Given the description of an element on the screen output the (x, y) to click on. 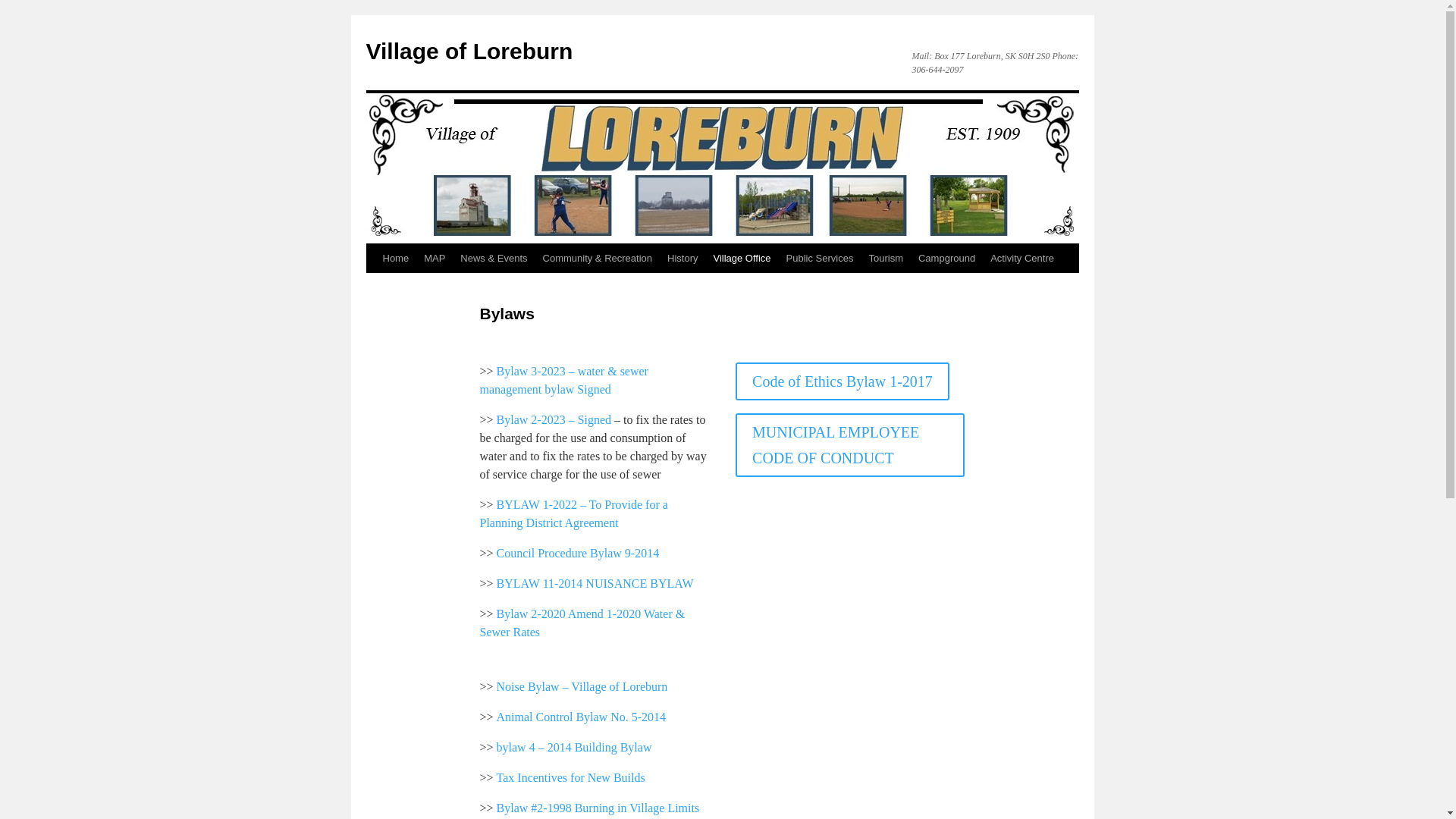
Activity Centre (1021, 258)
History (681, 258)
MAP (434, 258)
Home (395, 258)
Tourism (885, 258)
Village of Loreburn (468, 50)
Campground (946, 258)
Council Procedure Bylaw 9-2014 (577, 557)
Village of Loreburn (468, 50)
Animal Control Bylaw No. 5-2014 (581, 720)
